Given the description of an element on the screen output the (x, y) to click on. 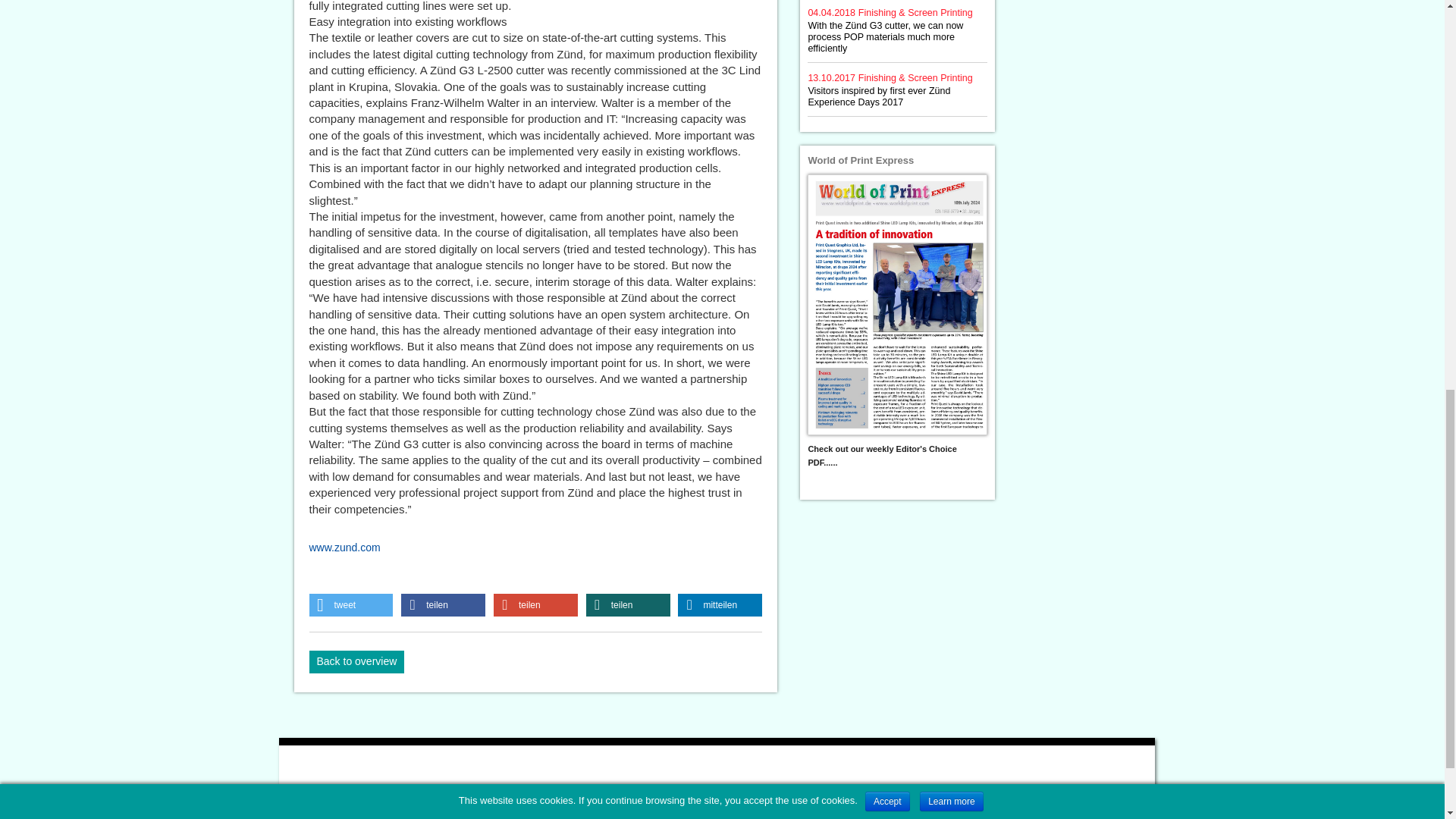
Bei XING teilen (627, 604)
Bei Facebook teilen (442, 604)
Bei Twitter teilen (350, 604)
Bei LinkedIn teilen (719, 604)
